Given the description of an element on the screen output the (x, y) to click on. 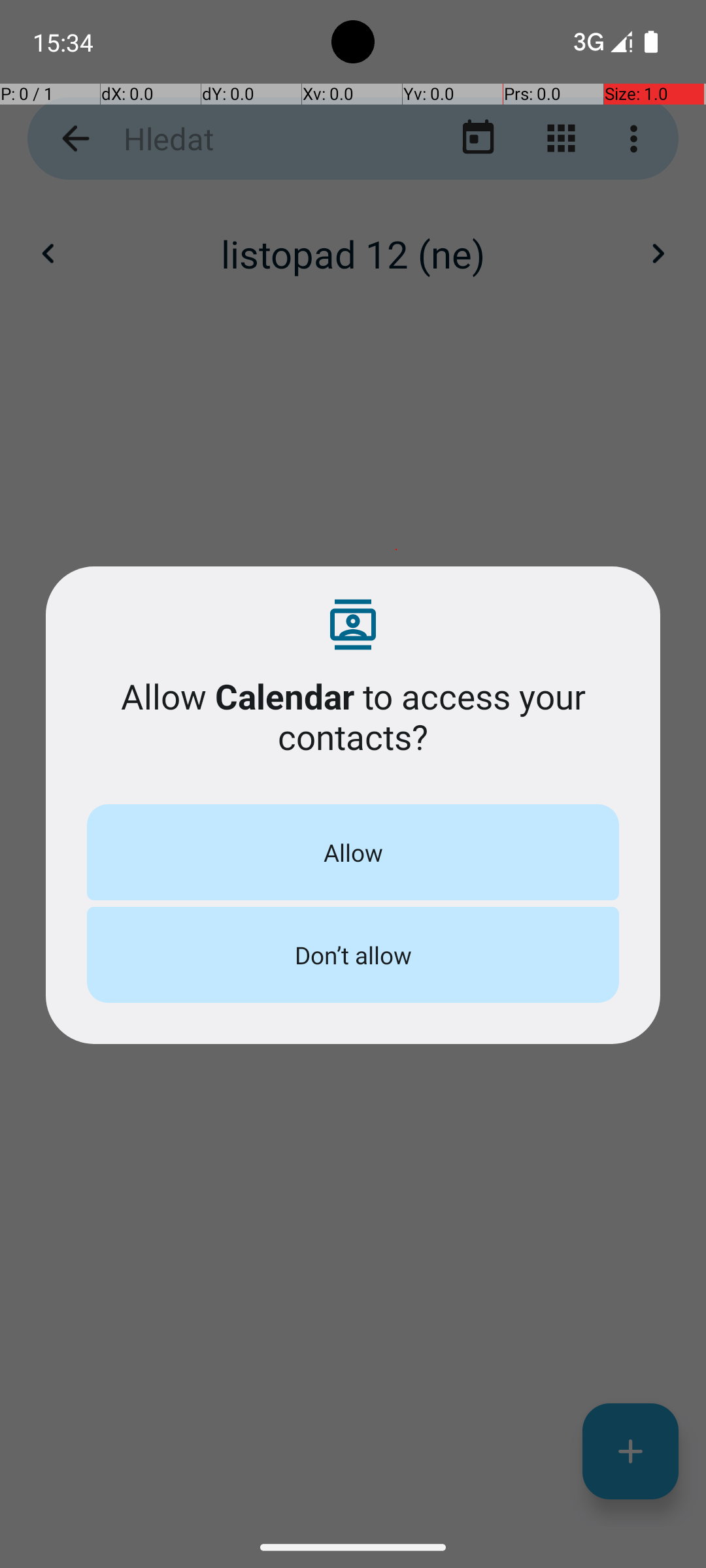
Allow Calendar to access your contacts? Element type: android.widget.TextView (352, 715)
